Given the description of an element on the screen output the (x, y) to click on. 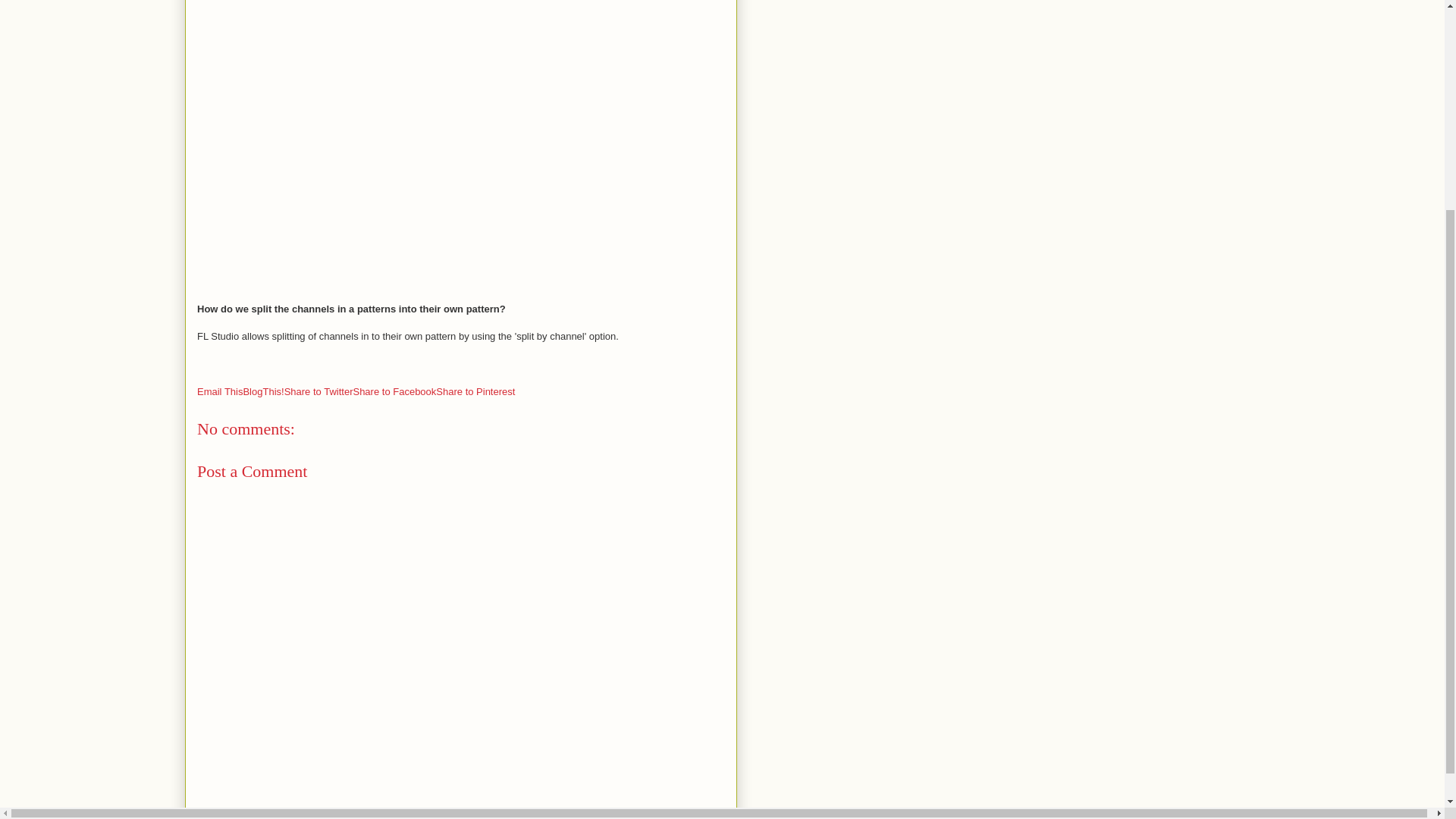
BlogThis! (263, 391)
Share to Twitter (318, 391)
Share to Pinterest (475, 391)
Share to Facebook (393, 391)
Email This (219, 391)
BlogThis! (263, 391)
Email This (219, 391)
Share to Twitter (318, 391)
Share to Facebook (393, 391)
Share to Pinterest (475, 391)
